Given the description of an element on the screen output the (x, y) to click on. 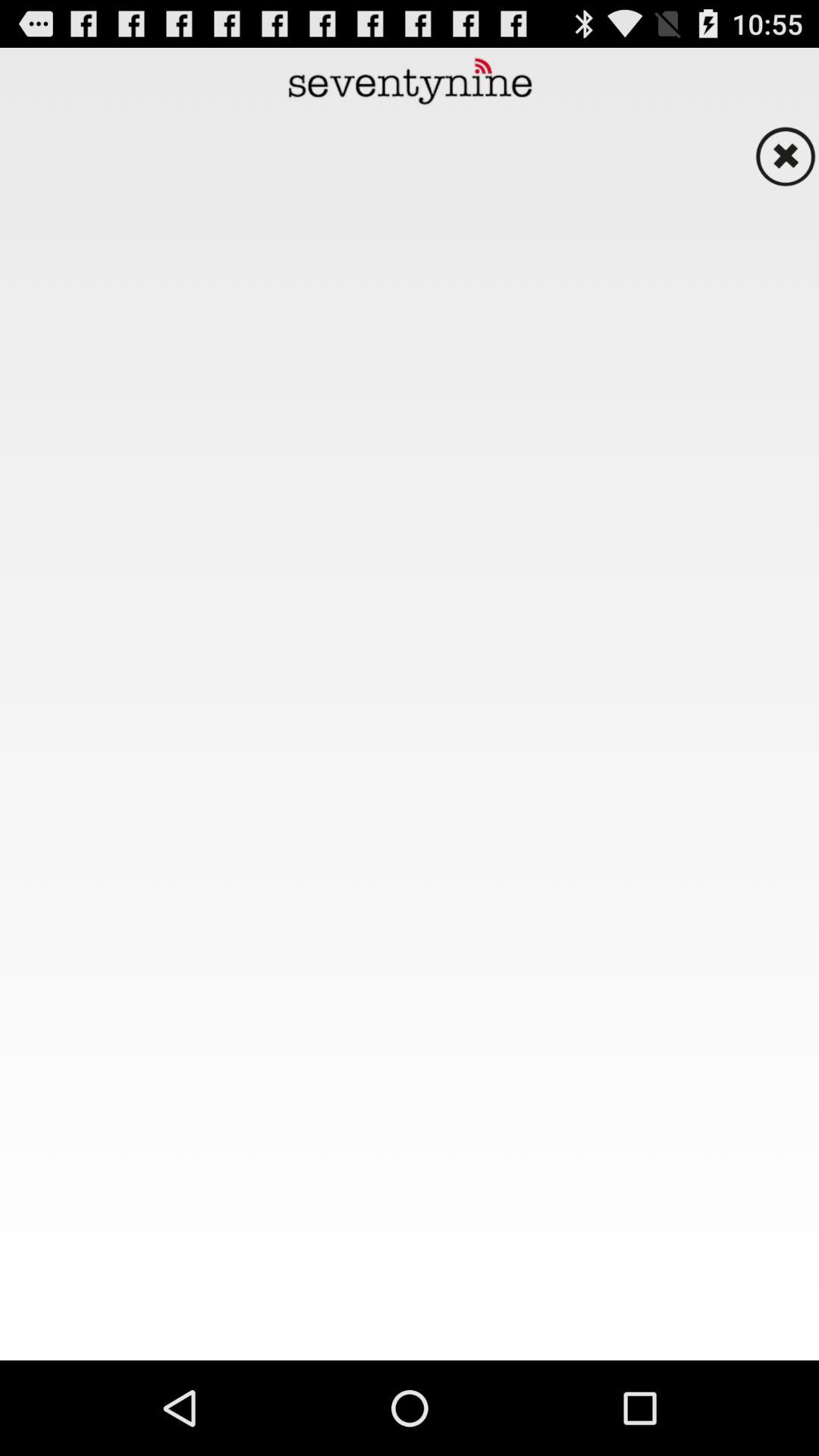
close page (785, 156)
